Given the description of an element on the screen output the (x, y) to click on. 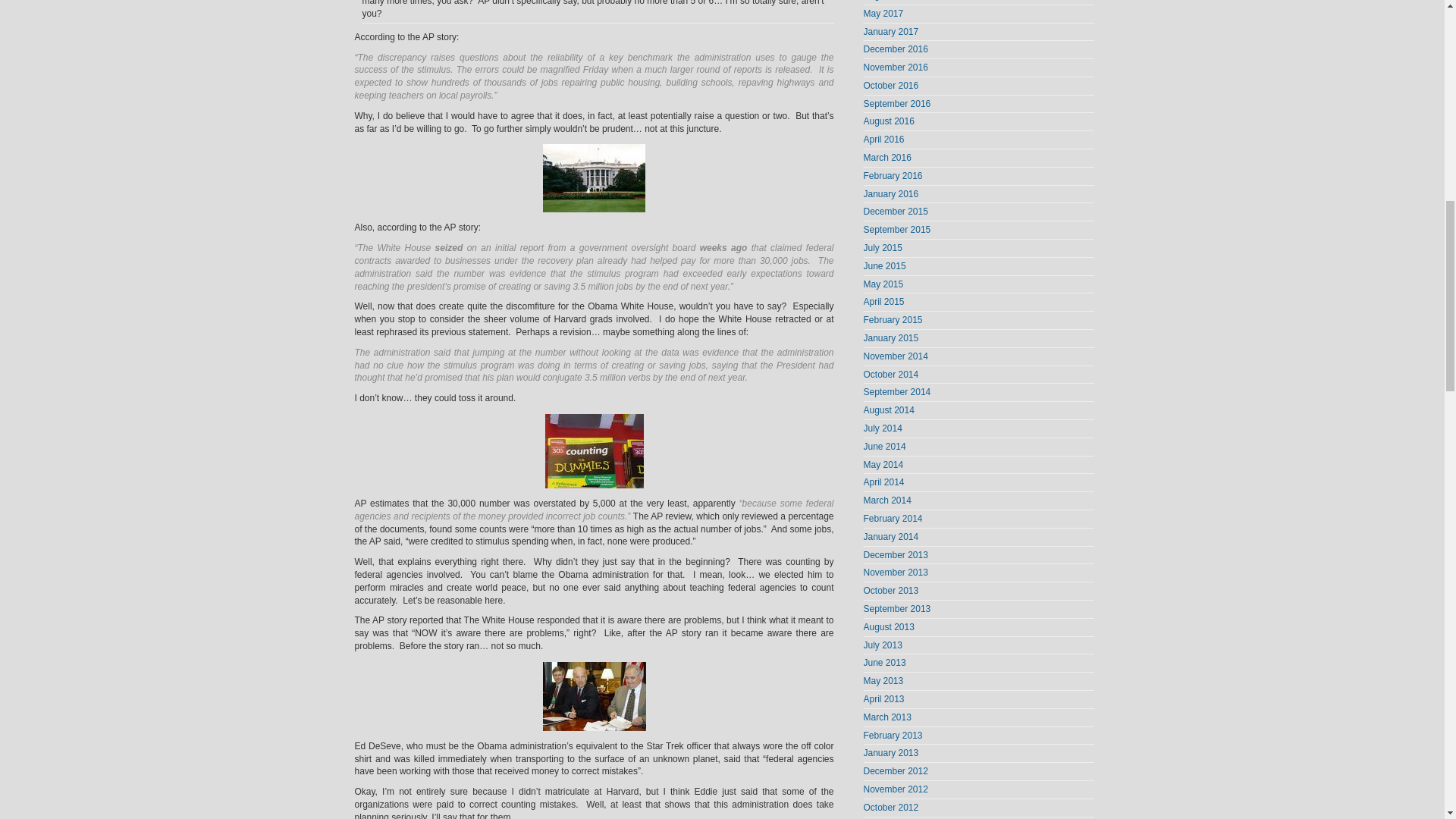
images-1 (593, 177)
images-2 (594, 450)
images-3 (594, 696)
